Given the description of an element on the screen output the (x, y) to click on. 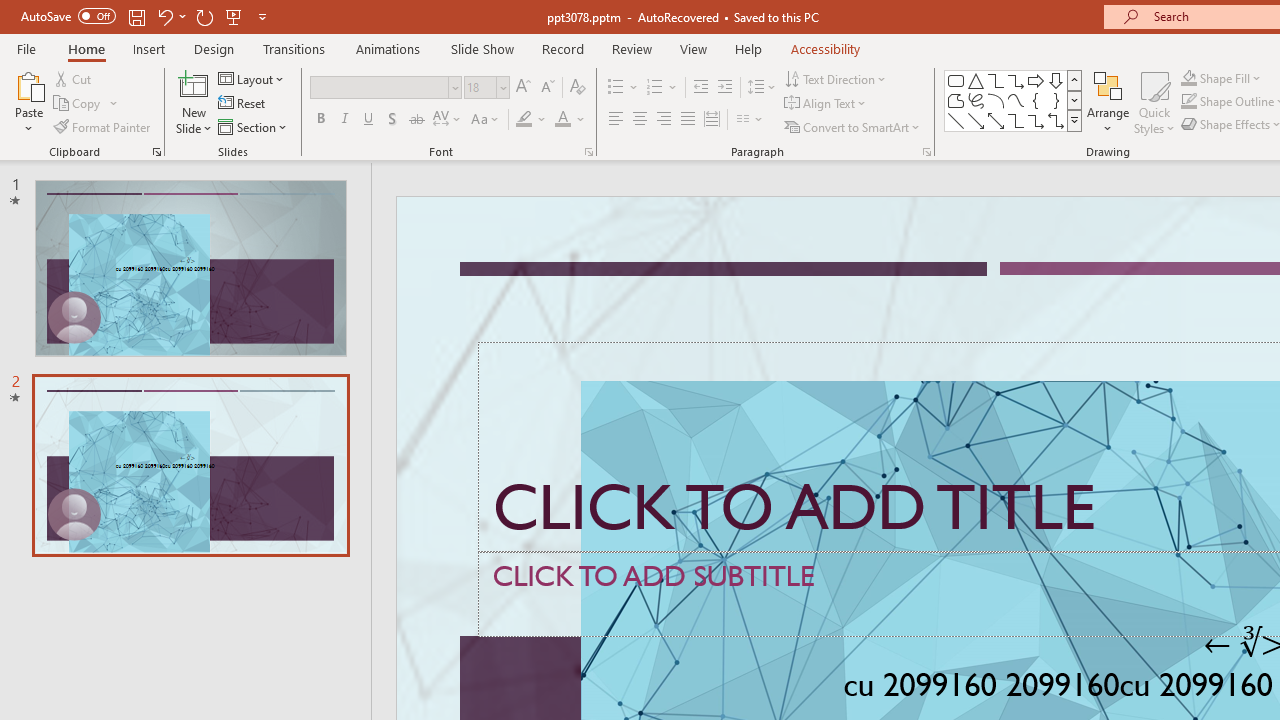
Shape Fill Dark Green, Accent 2 (1188, 78)
